Given the description of an element on the screen output the (x, y) to click on. 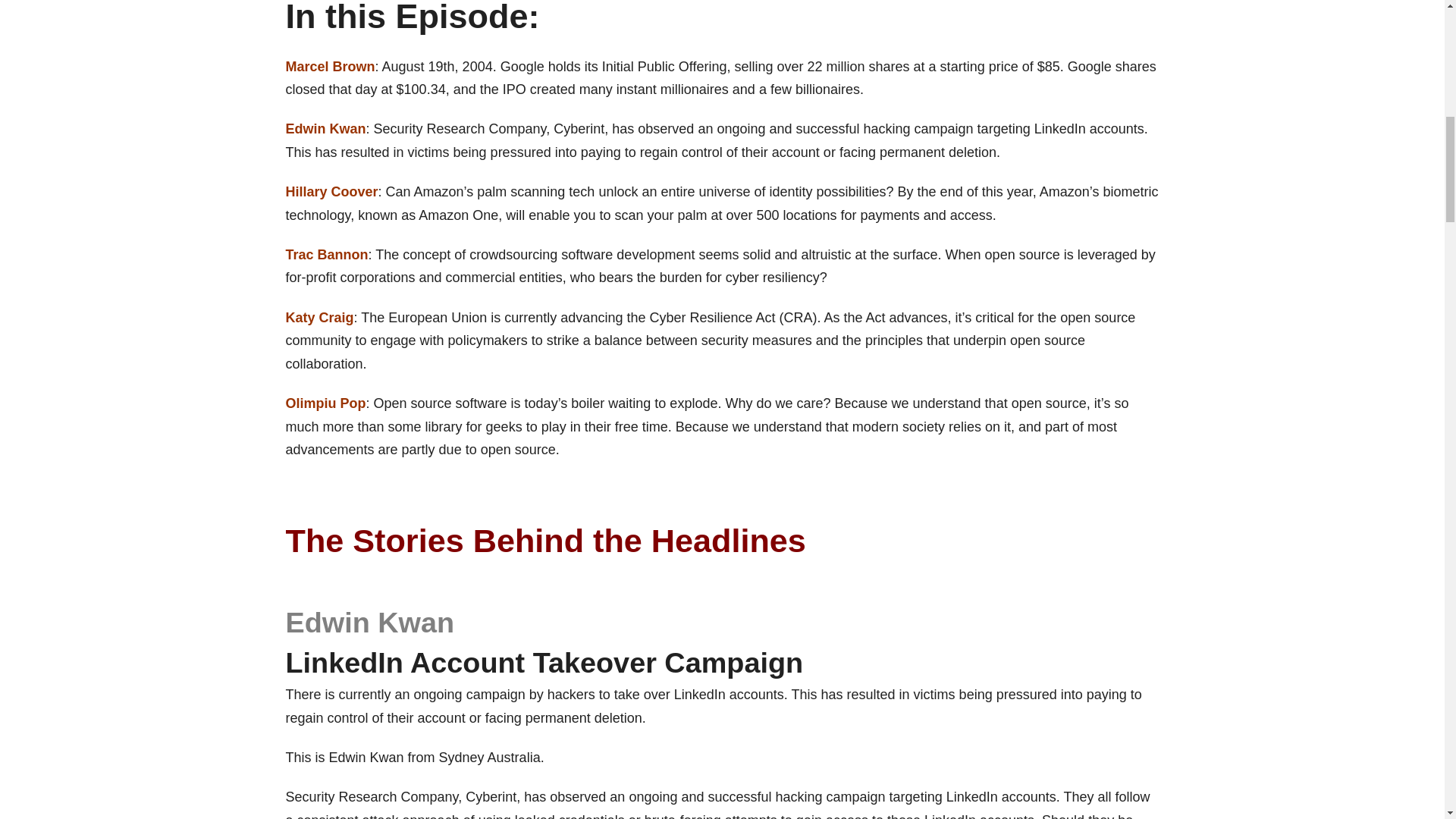
Edwin Kwan (325, 128)
Trac Bannon (326, 254)
Olimpiu Pop (325, 403)
Katy Craig (319, 317)
Hillary Coover (331, 191)
Marcel Brown (329, 66)
